Given the description of an element on the screen output the (x, y) to click on. 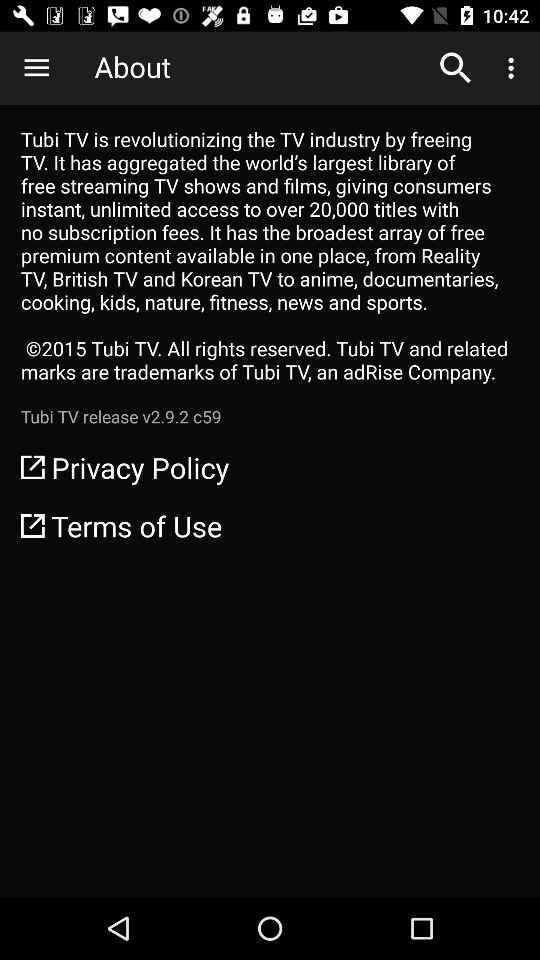
swipe until the terms of use icon (270, 525)
